Given the description of an element on the screen output the (x, y) to click on. 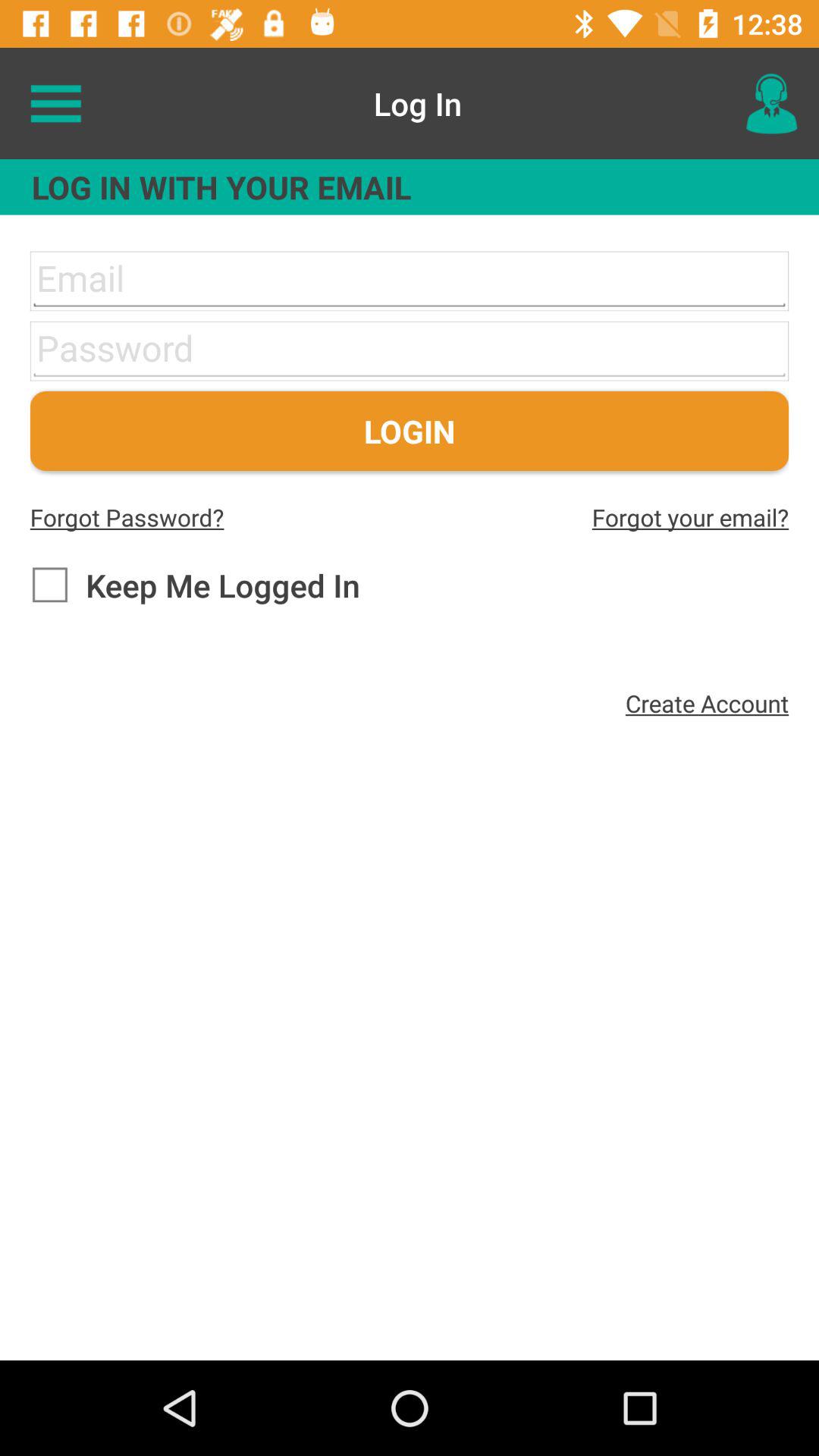
enter the email id (409, 281)
